Given the description of an element on the screen output the (x, y) to click on. 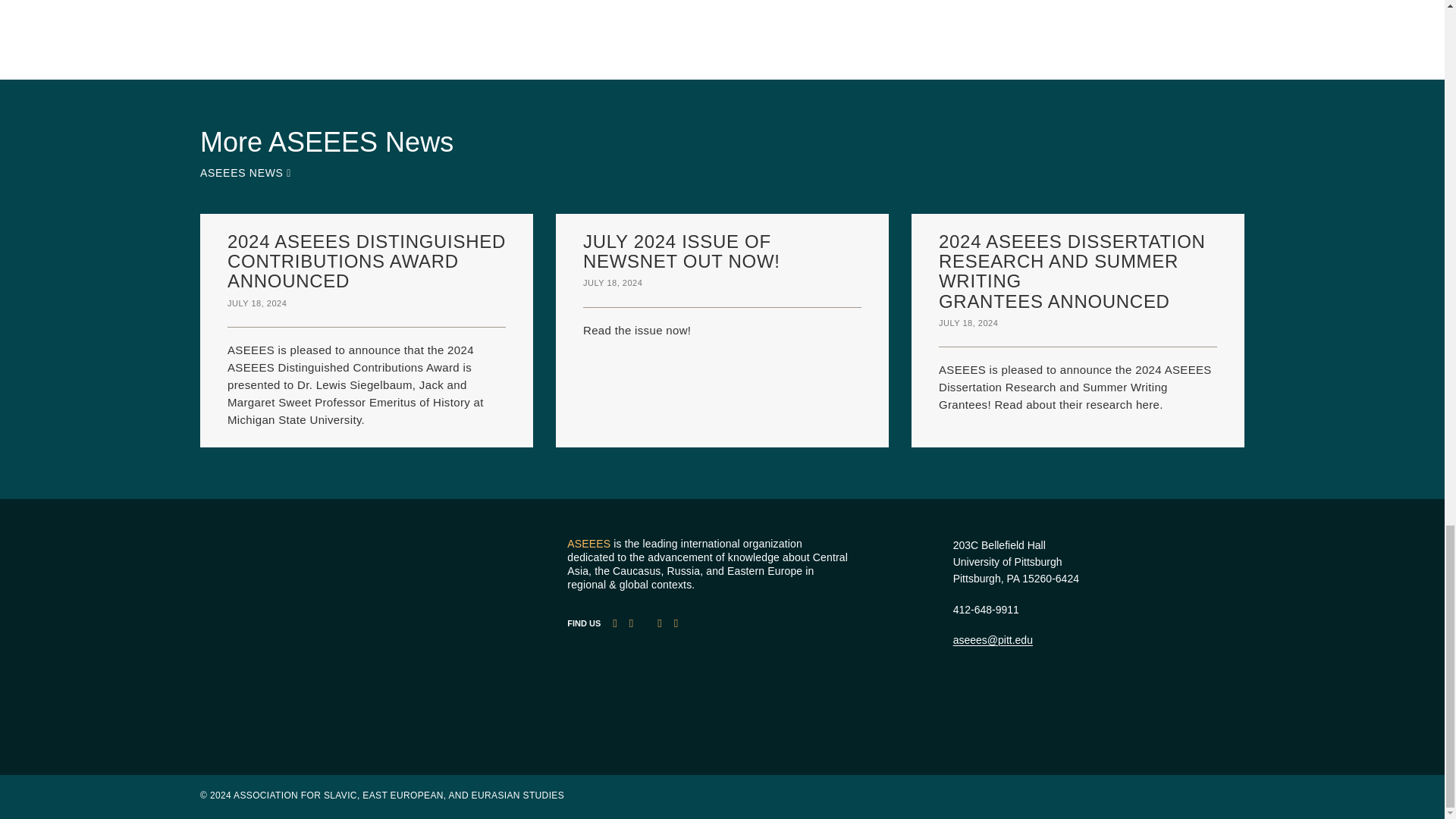
Subscribe on YouTube (659, 623)
like us on facebook (613, 623)
like us on linkedin (676, 623)
follow us on X (630, 623)
